Given the description of an element on the screen output the (x, y) to click on. 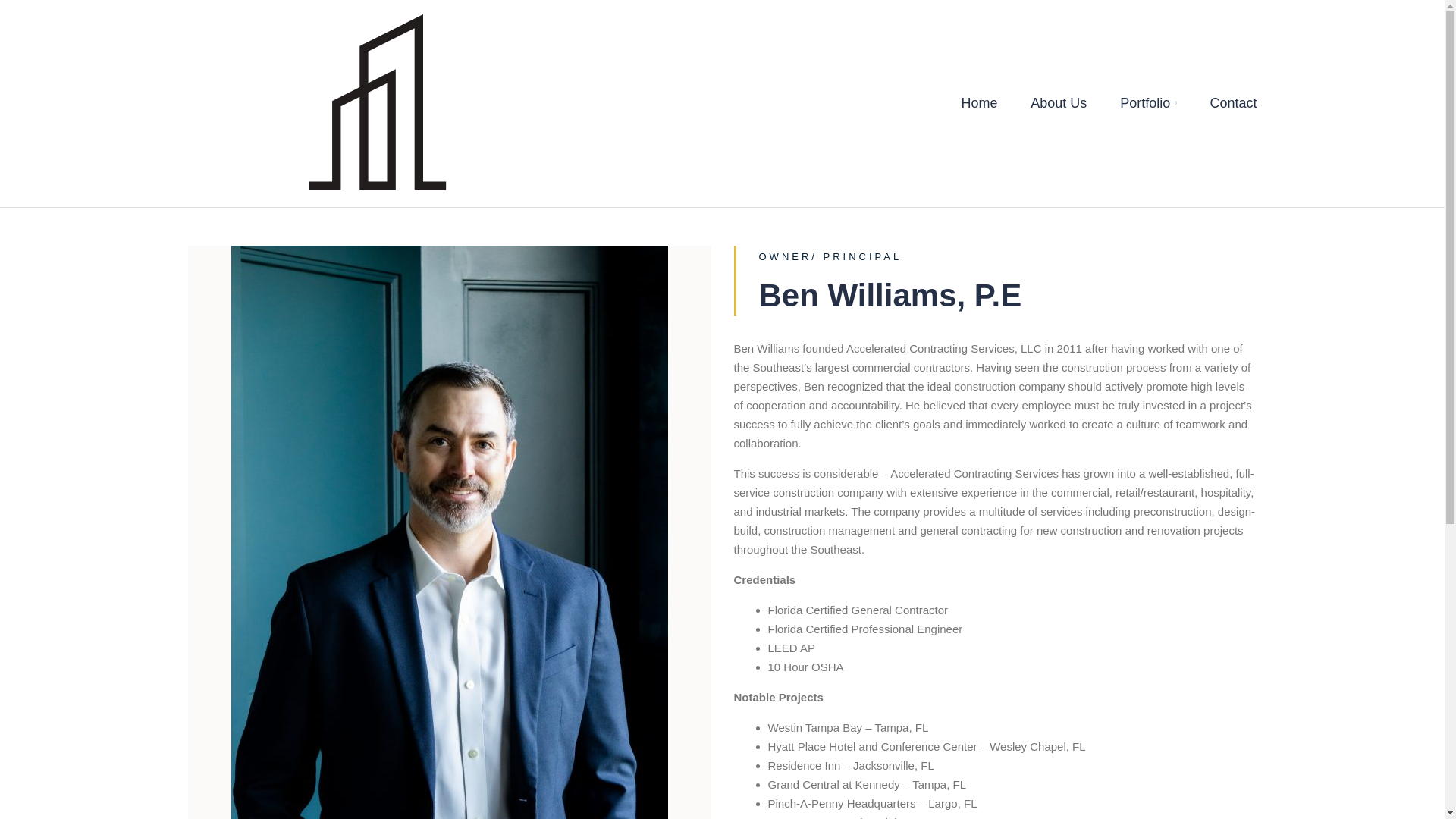
Contact (1226, 102)
Home (979, 102)
About Us (1059, 102)
Portfolio (1148, 102)
